Given the description of an element on the screen output the (x, y) to click on. 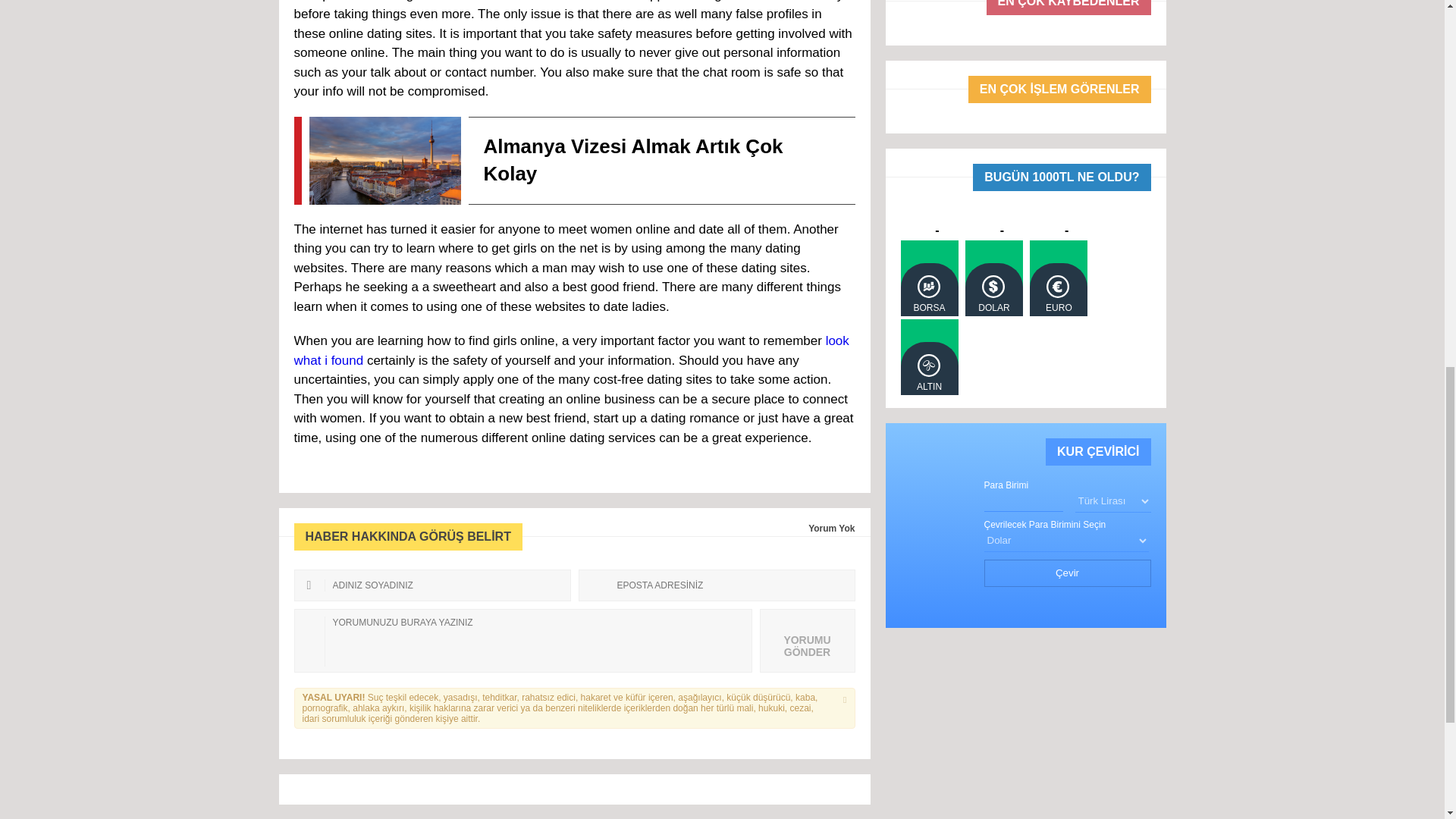
look what i found (571, 350)
